Given the description of an element on the screen output the (x, y) to click on. 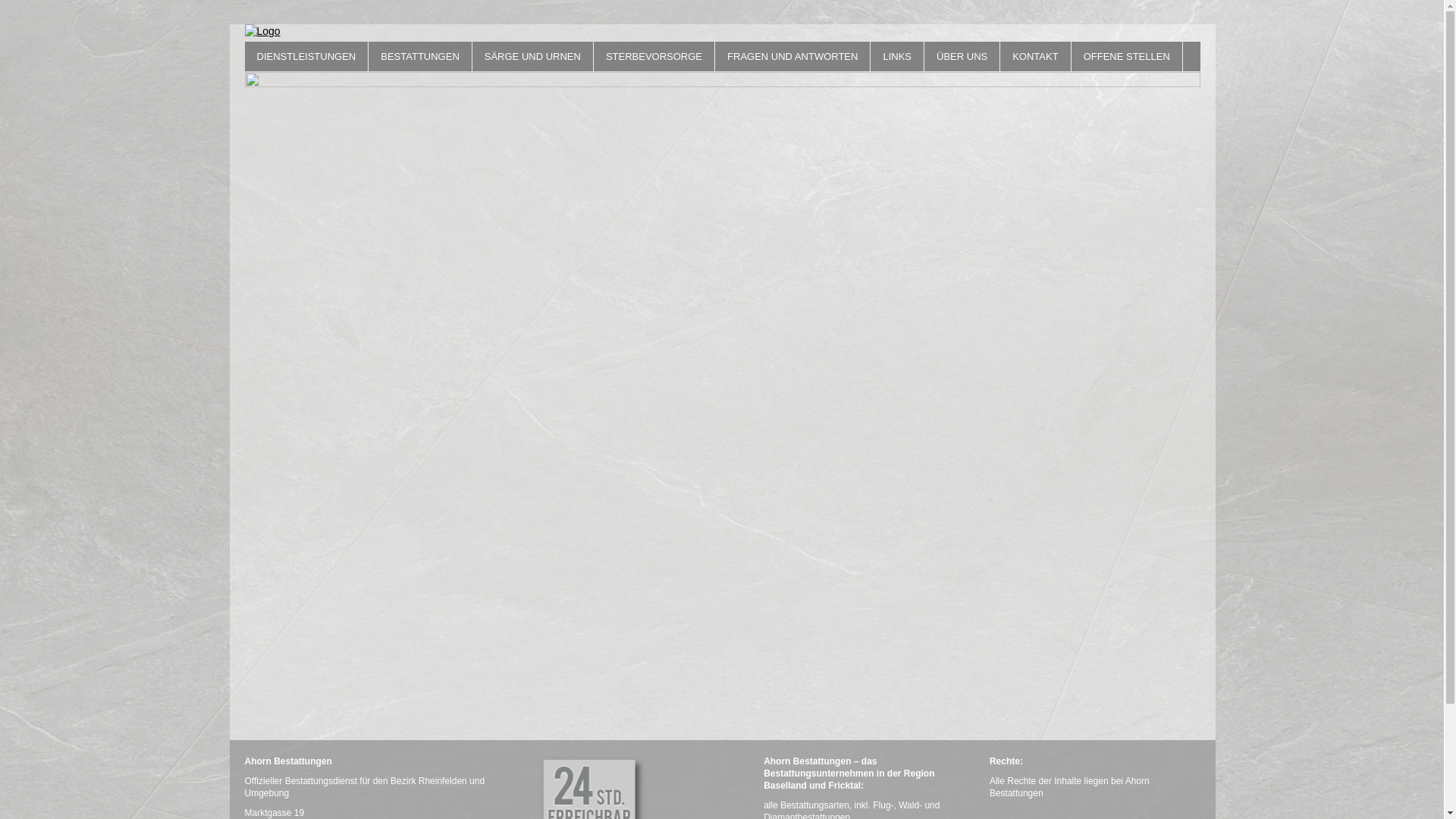
STERBEVORSORGE Element type: text (653, 56)
LINKS Element type: text (896, 56)
DIENSTLEISTUNGEN Element type: text (305, 56)
OFFENE STELLEN Element type: text (1126, 56)
BESTATTUNGEN Element type: text (419, 56)
FRAGEN UND ANTWORTEN Element type: text (792, 56)
Zur Startseite Element type: hover (721, 31)
KONTAKT Element type: text (1035, 56)
